Given the description of an element on the screen output the (x, y) to click on. 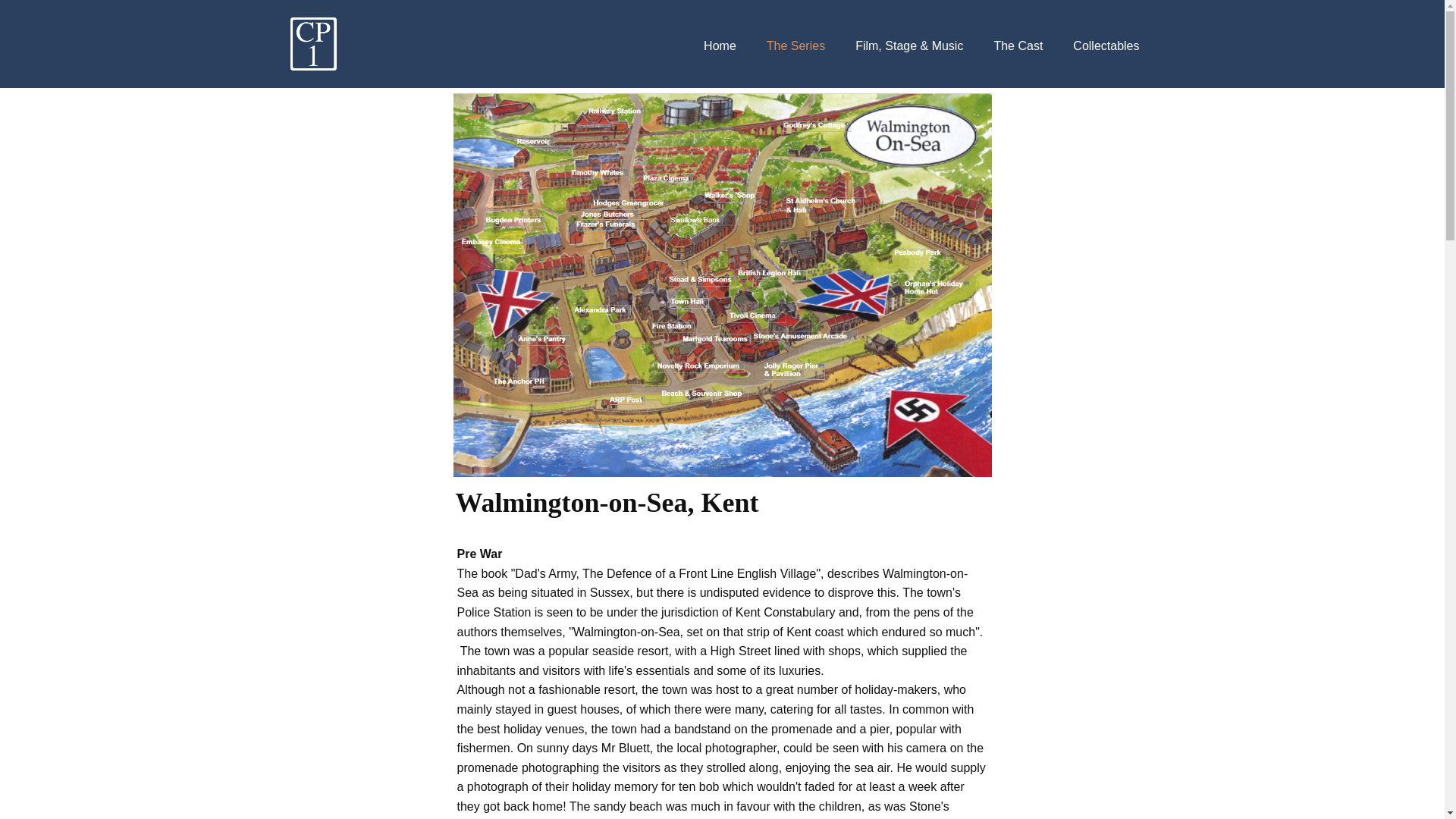
The Cast (1018, 45)
Collectables (1106, 45)
The Series (795, 45)
Home (719, 45)
